Given the description of an element on the screen output the (x, y) to click on. 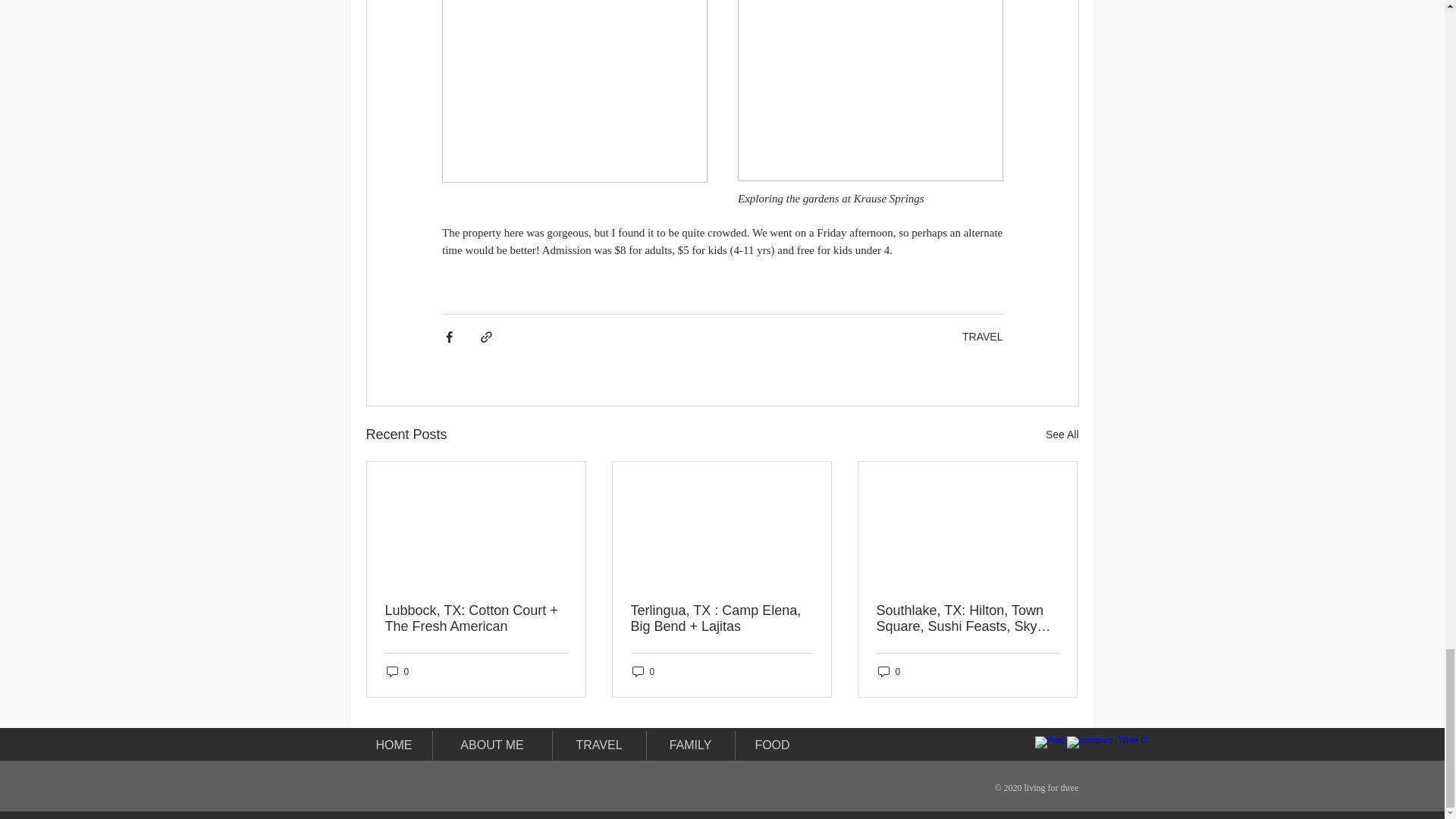
See All (1061, 434)
0 (643, 671)
TRAVEL (982, 336)
0 (397, 671)
0 (889, 671)
